Given the description of an element on the screen output the (x, y) to click on. 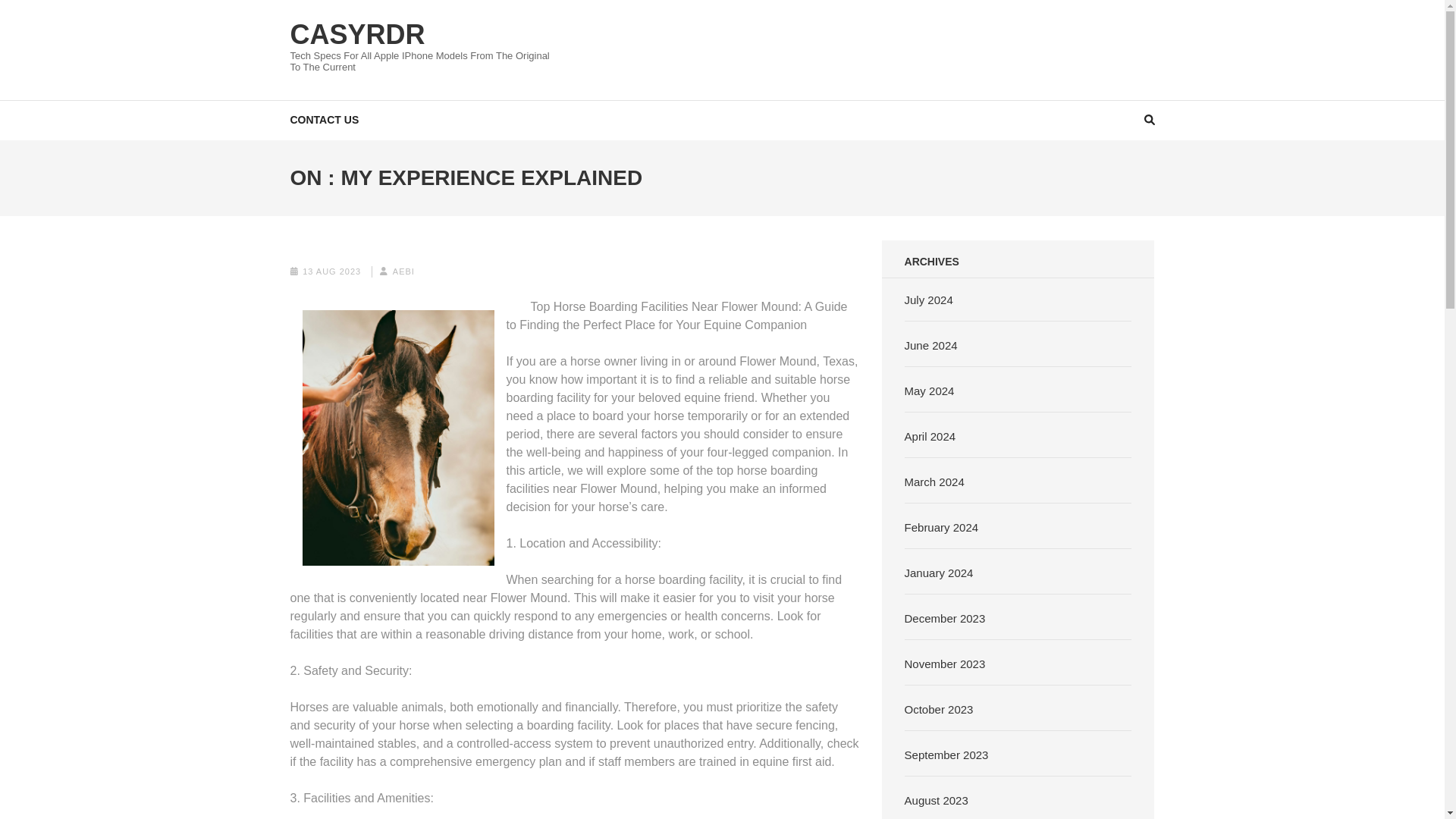
January 2024 (939, 571)
CONTACT US (323, 118)
AEBI (403, 271)
March 2024 (933, 481)
June 2024 (931, 344)
December 2023 (944, 617)
CASYRDR (357, 33)
February 2024 (941, 526)
July 2024 (928, 298)
13 AUG 2023 (331, 271)
August 2023 (936, 799)
April 2024 (930, 435)
October 2023 (939, 707)
May 2024 (929, 390)
September 2023 (946, 753)
